Given the description of an element on the screen output the (x, y) to click on. 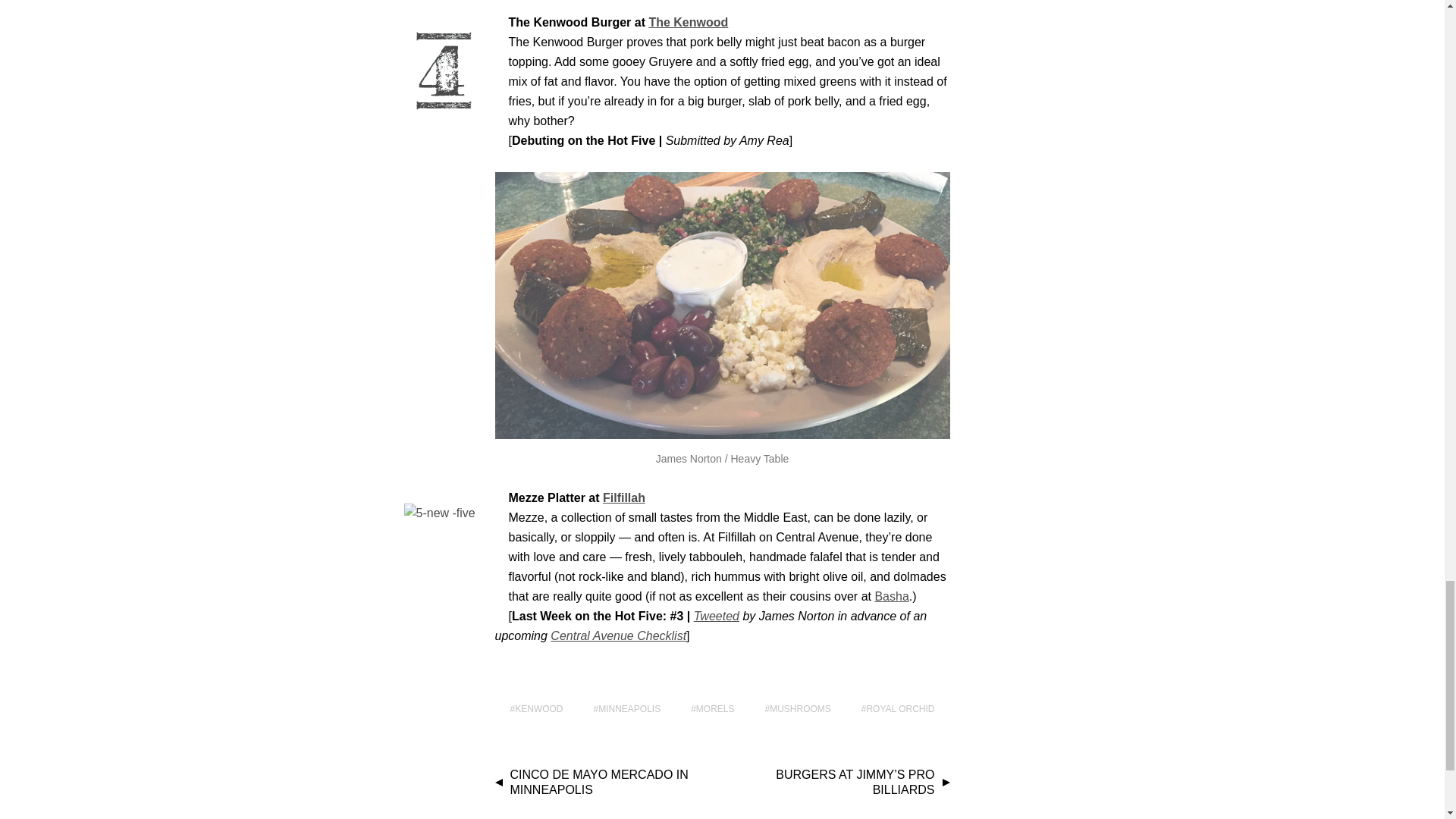
The Kenwood (687, 21)
